Given the description of an element on the screen output the (x, y) to click on. 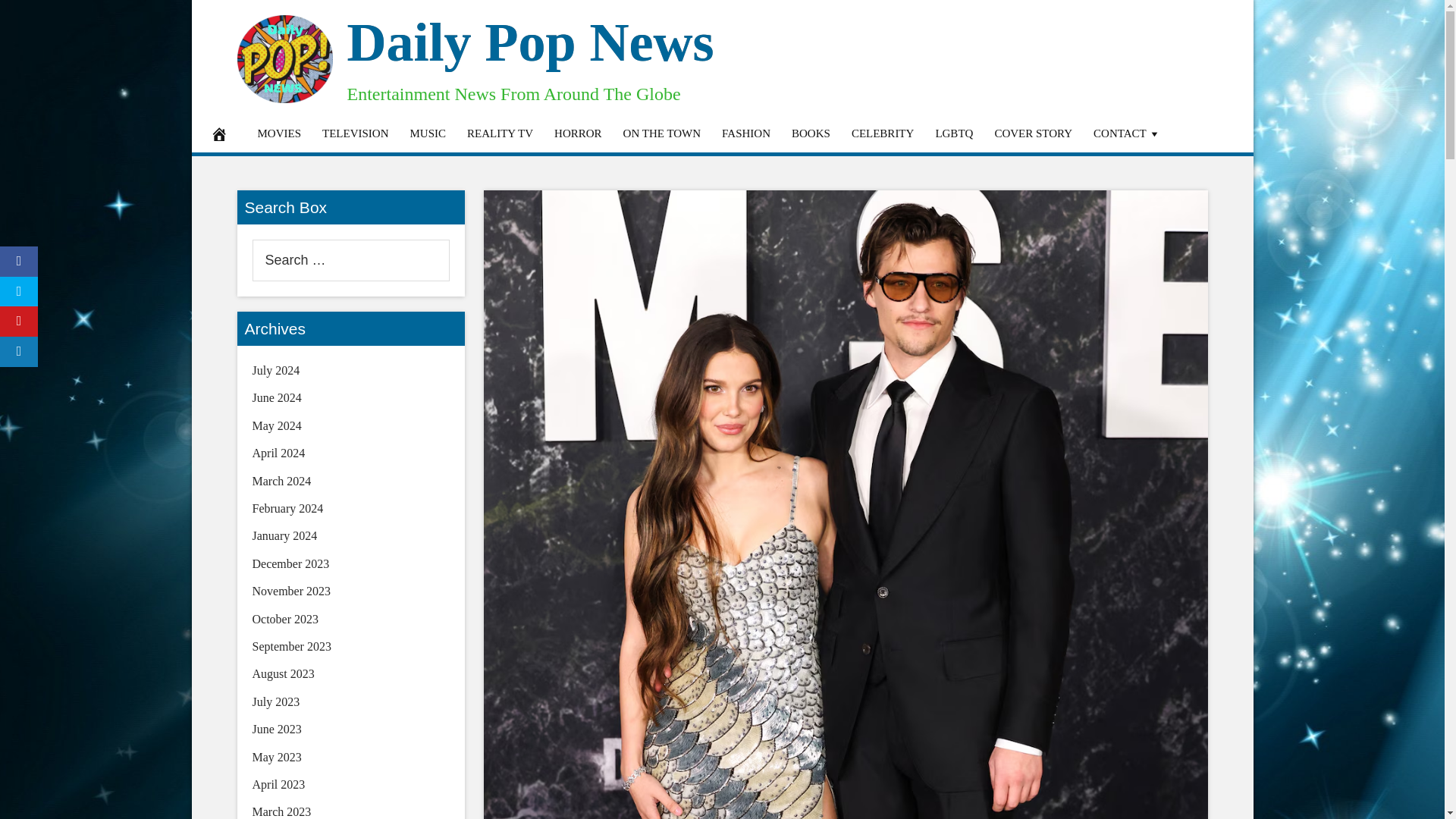
FASHION (745, 133)
ON THE TOWN (661, 133)
REALITY TV (500, 133)
BOOKS (810, 133)
LGBTQ (954, 133)
MOVIES (280, 133)
Daily Pop News (530, 42)
CELEBRITY (882, 133)
COVER STORY (1033, 133)
TELEVISION (354, 133)
CONTACT (1127, 133)
HORROR (577, 133)
